Given the description of an element on the screen output the (x, y) to click on. 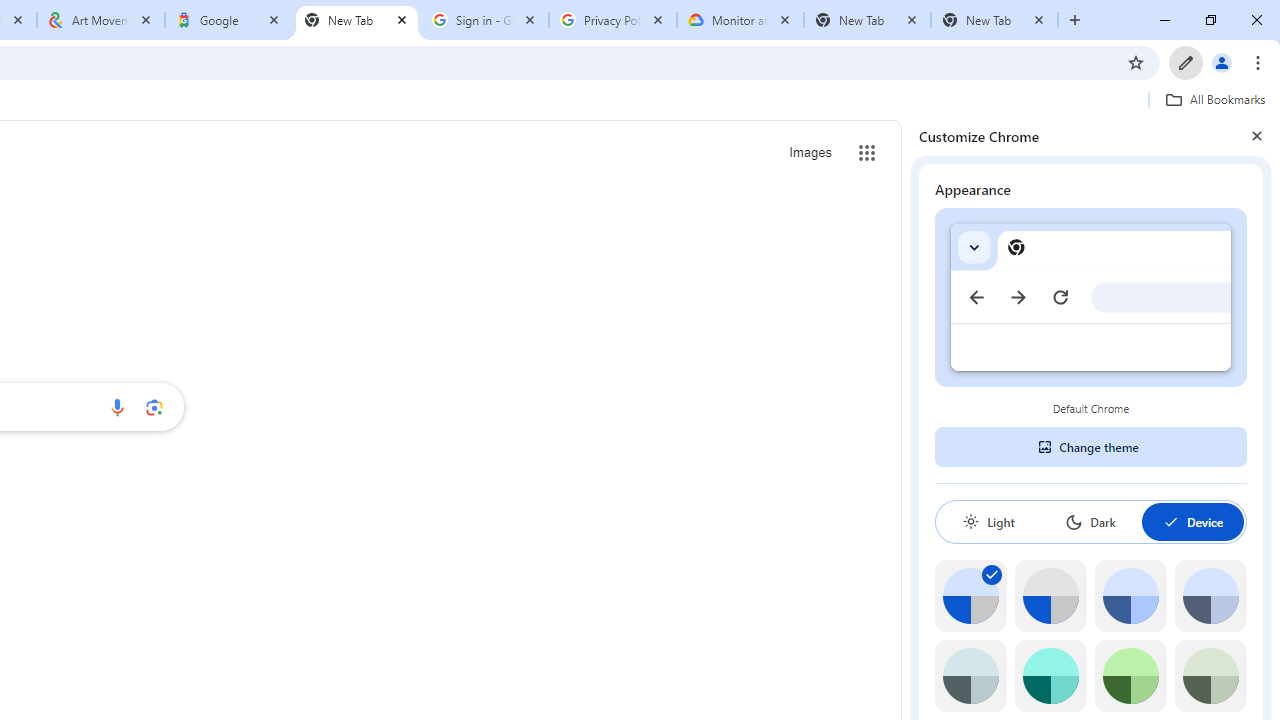
All Bookmarks (1215, 99)
Dark (1090, 521)
Customize Chrome (1185, 62)
Grey default color (1050, 596)
AutomationID: baseSvg (1170, 521)
Cool grey (1210, 596)
New Tab (866, 20)
Default color (970, 596)
Viridian (1210, 676)
